Given the description of an element on the screen output the (x, y) to click on. 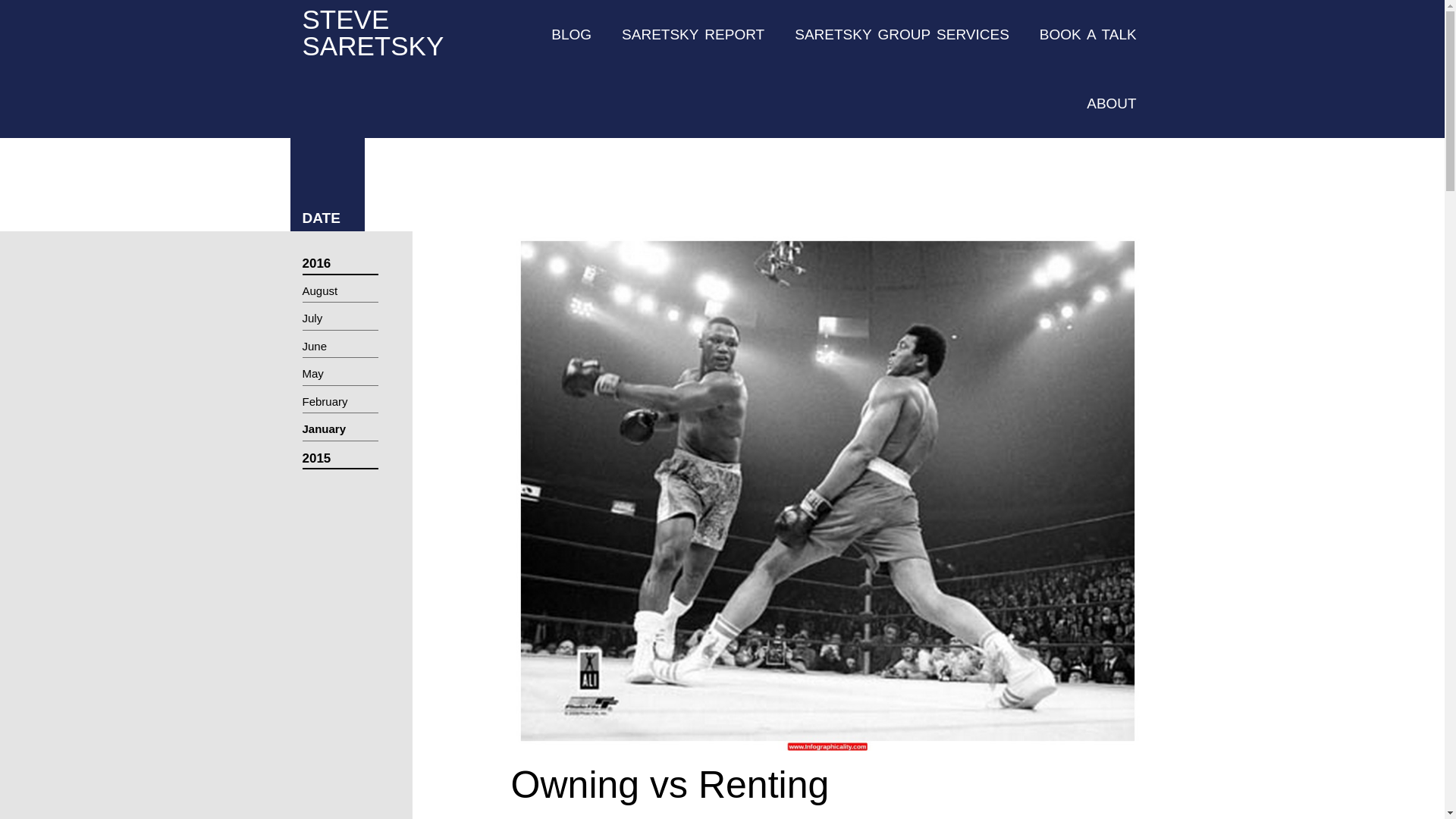
SARETSKY REPORT (692, 34)
02 (339, 403)
2015 (339, 459)
ABOUT (372, 32)
05 (1111, 103)
06 (339, 375)
01 (339, 348)
SARETSKY GROUP SERVICES (339, 430)
BOOK A TALK (901, 34)
07 (1088, 34)
BLOG (339, 320)
2016 (571, 34)
08 (339, 264)
